Given the description of an element on the screen output the (x, y) to click on. 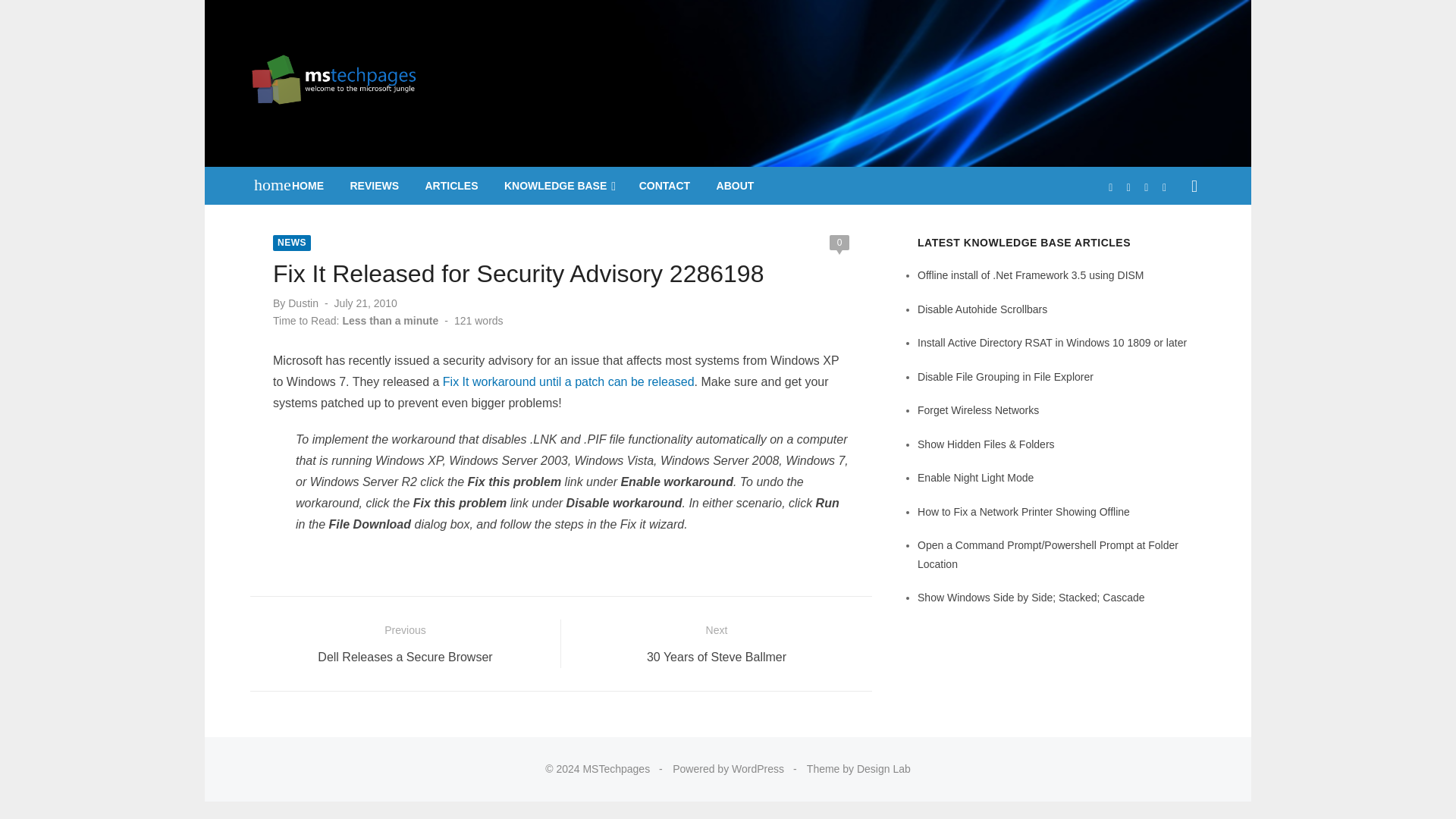
HOME (307, 185)
KNOWLEDGE BASE (558, 185)
home (264, 183)
ABOUT (735, 185)
CONTACT (664, 185)
ARTICLES (450, 185)
